Given the description of an element on the screen output the (x, y) to click on. 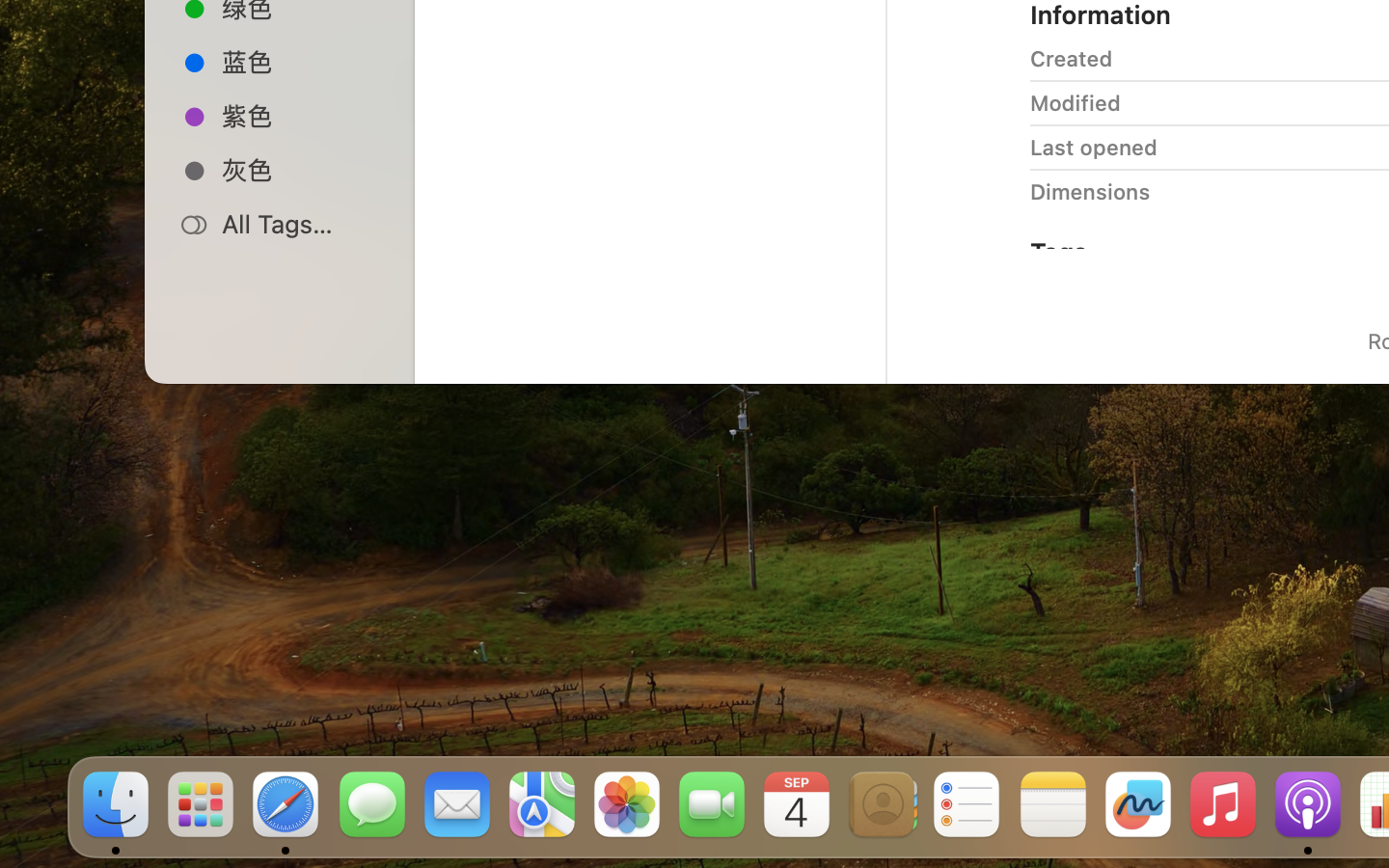
All Tags… Element type: AXStaticText (299, 223)
Created Element type: AXStaticText (1071, 57)
Modified Element type: AXStaticText (1075, 101)
Last opened Element type: AXStaticText (1093, 146)
